Given the description of an element on the screen output the (x, y) to click on. 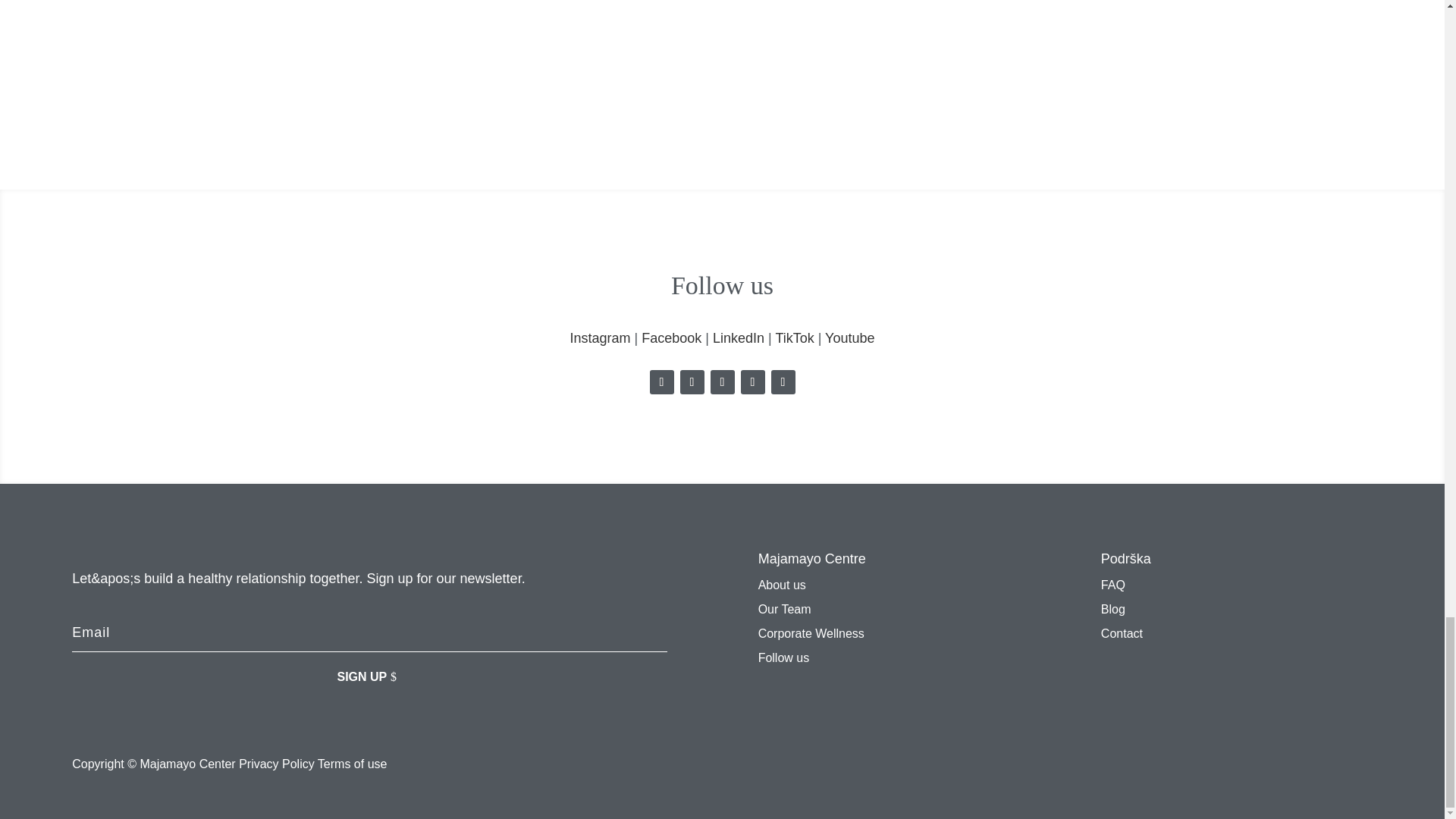
Follow on Facebook (691, 381)
Facebook (671, 337)
Follow on TikTok (751, 381)
Follow on Youtube (782, 381)
Youtube (850, 337)
Follow on LinkedIn (721, 381)
Follow on Instagram (660, 381)
Instagram (599, 337)
TikTok (793, 337)
LinkedIn (738, 337)
